Given the description of an element on the screen output the (x, y) to click on. 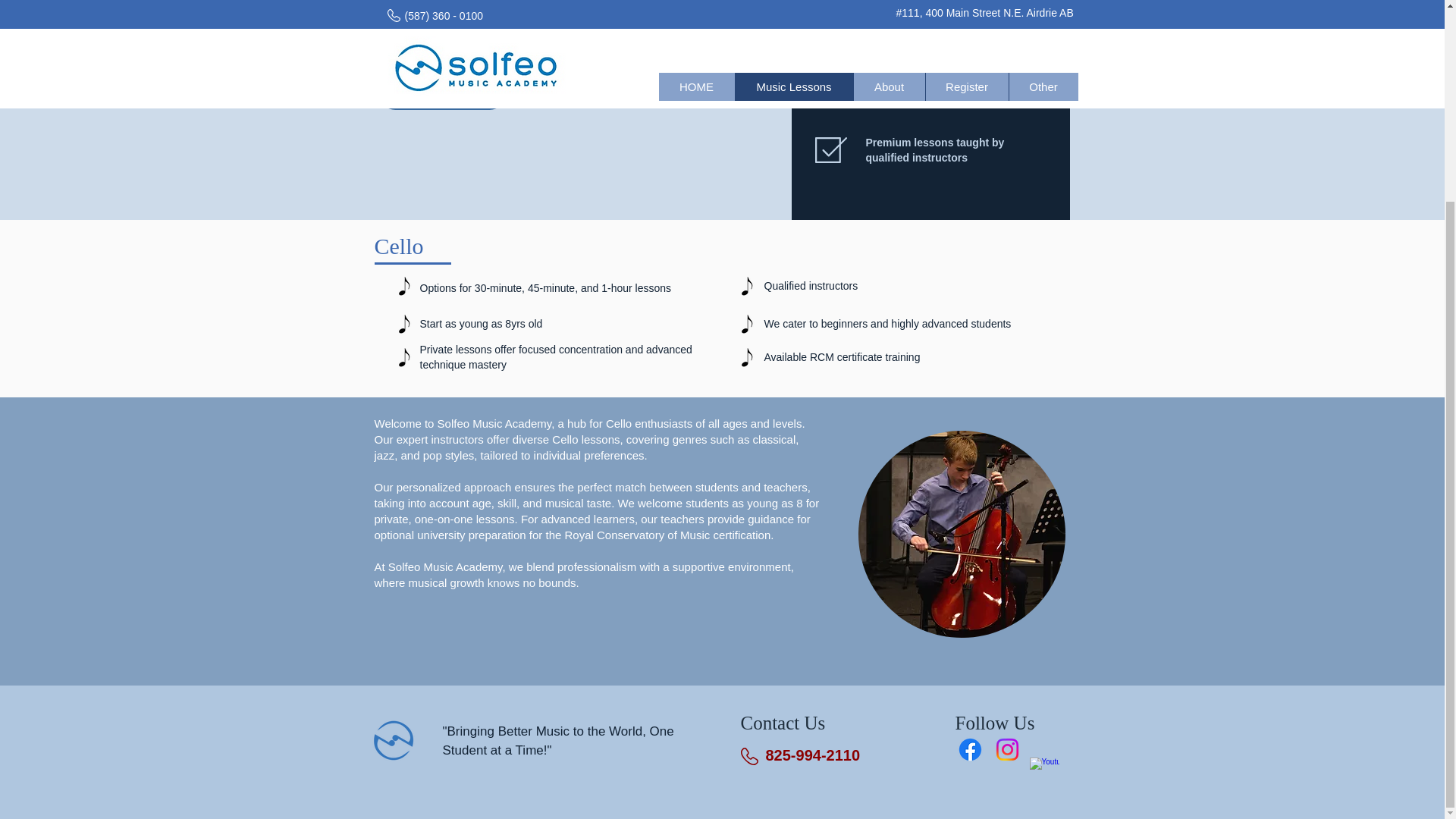
PerformanceCello.png (962, 534)
Register Now (441, 93)
Solfeo.png (392, 740)
587-360-0100 (812, 754)
